Given the description of an element on the screen output the (x, y) to click on. 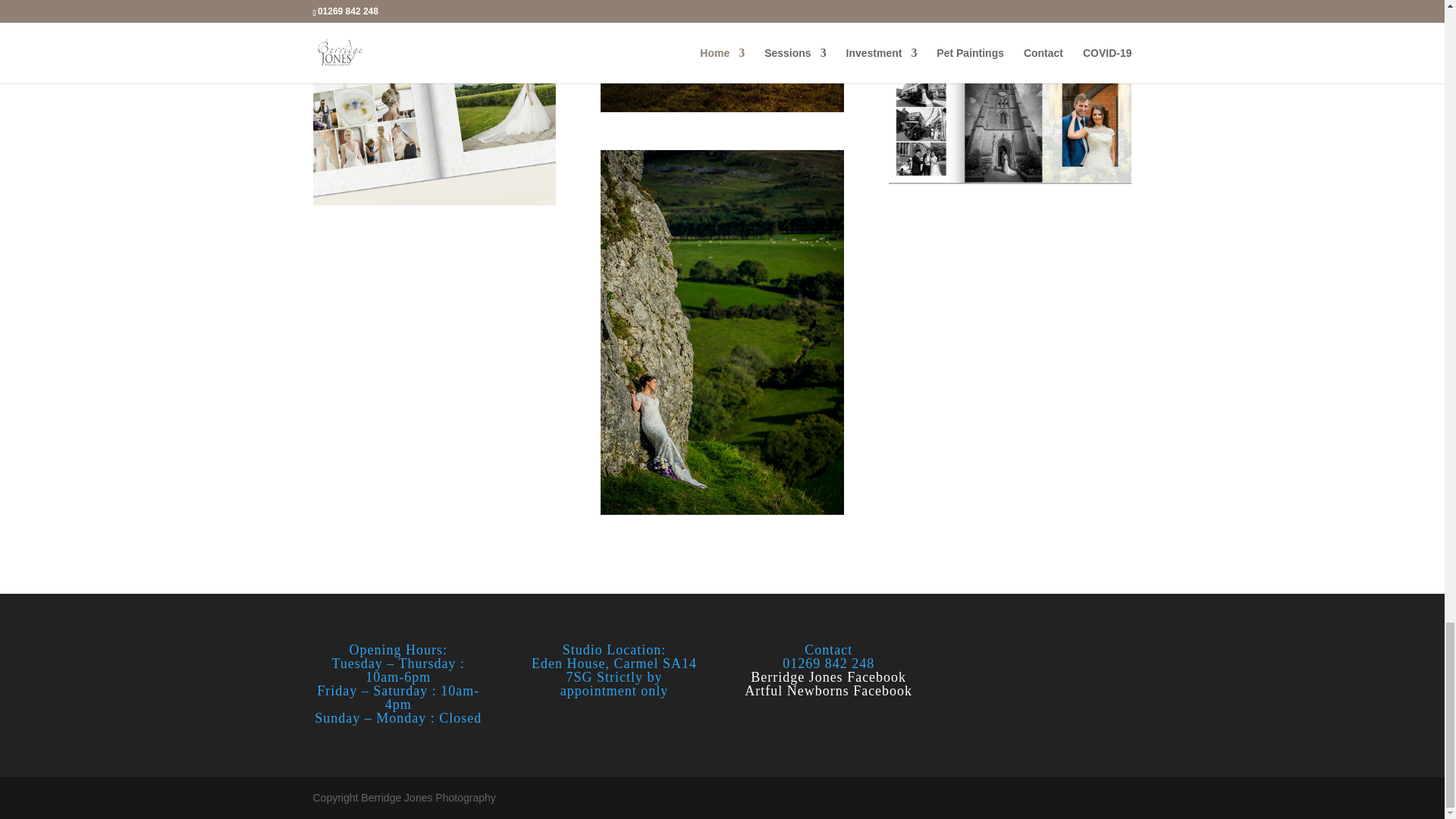
WDC10444001-039 (721, 56)
353-MarRai-004 (1009, 2)
01 (433, 124)
WDC11436001-042 (433, 2)
